Given the description of an element on the screen output the (x, y) to click on. 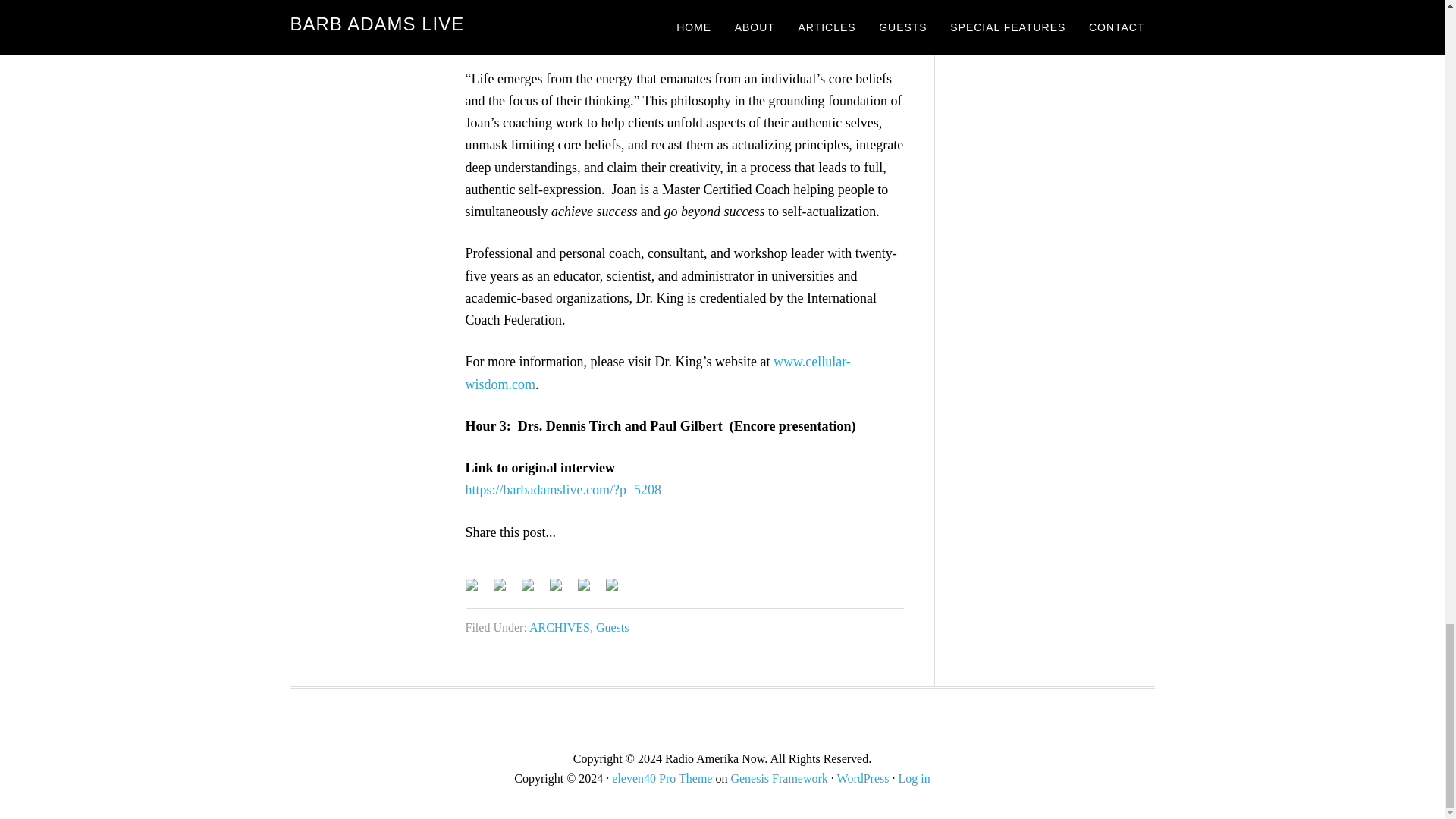
ARCHIVES (559, 626)
Share by email (611, 584)
Guests (611, 626)
Share on Facebook (471, 584)
www.cellular-wisdom.com (657, 372)
Share on Facebook (477, 590)
Share on tumblr (590, 590)
Share on Reddit (533, 590)
Share on Linkedin (554, 584)
Share on tumblr (583, 584)
Share by email (616, 590)
Share on Linkedin (560, 590)
Share on Twitter (504, 590)
Share on Reddit (527, 584)
Share on Twitter (499, 584)
